Given the description of an element on the screen output the (x, y) to click on. 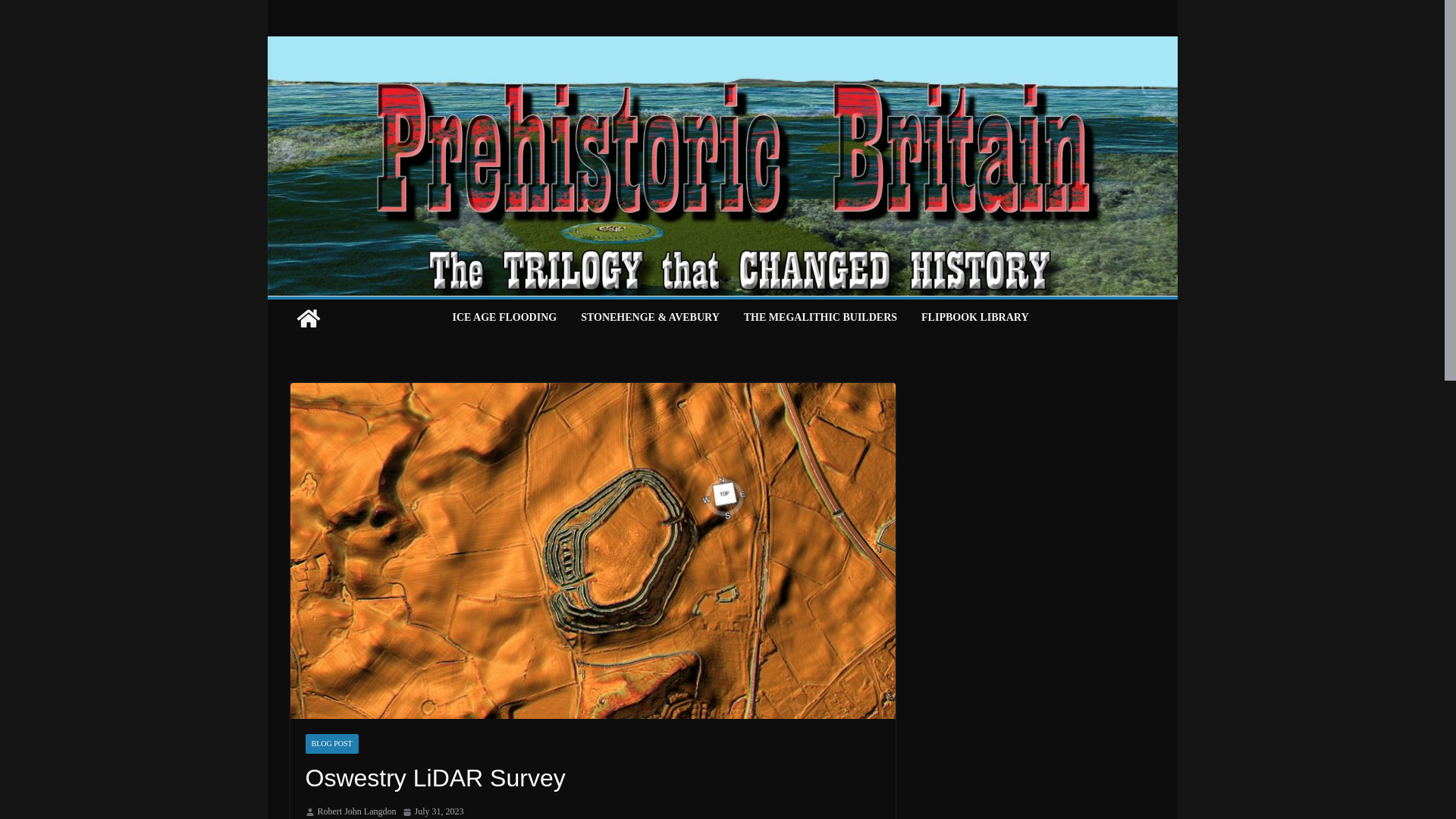
BLOG POST (331, 743)
ICE AGE FLOODING (503, 318)
July 31, 2023 (432, 811)
Prehistoric Britain (307, 318)
Robert John Langdon (356, 811)
Robert John Langdon (356, 811)
FLIPBOOK LIBRARY (974, 318)
12:47 pm (432, 811)
THE MEGALITHIC BUILDERS (820, 318)
